Given the description of an element on the screen output the (x, y) to click on. 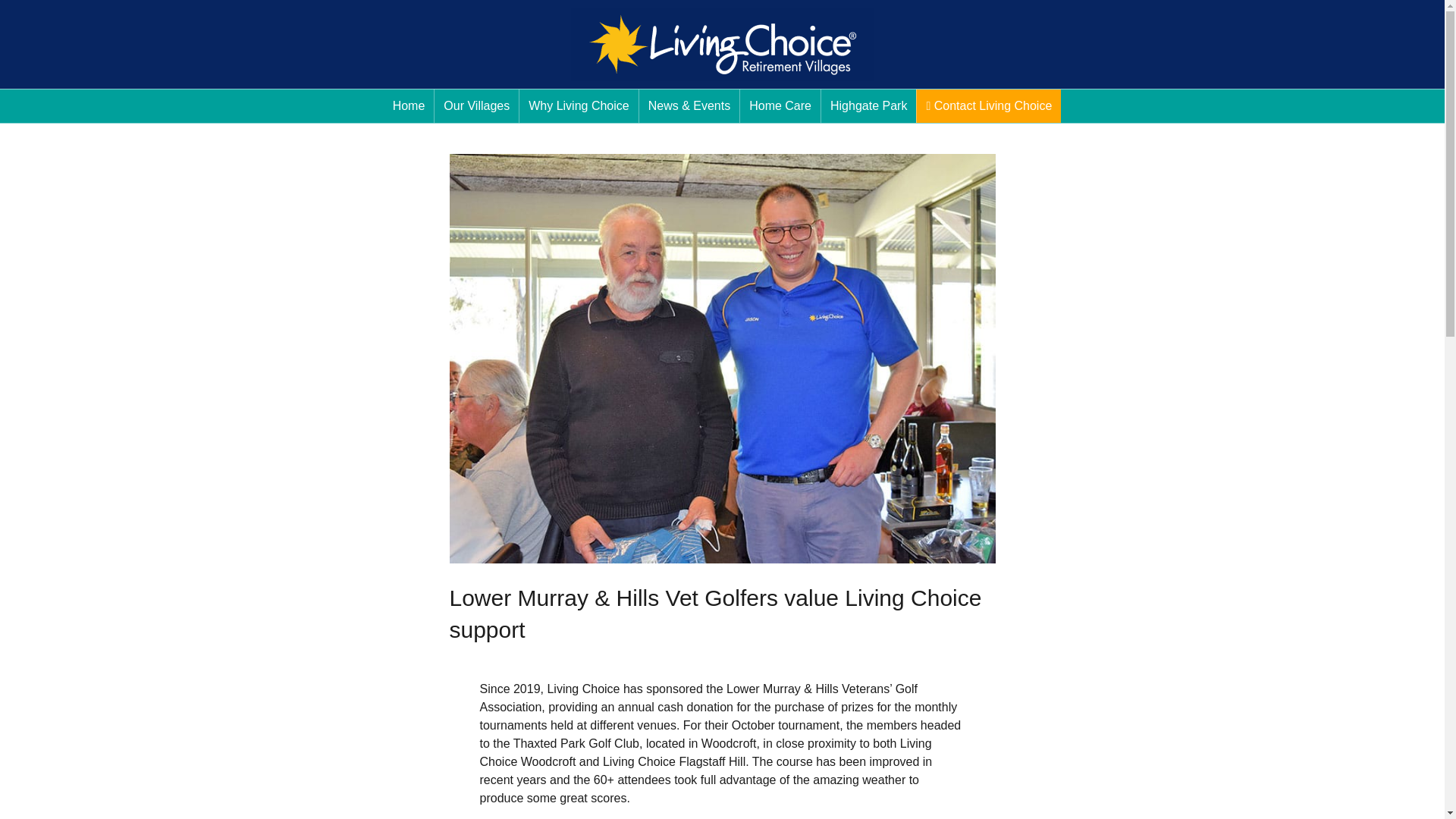
Highgate Park (868, 105)
Home Care (780, 105)
Why Living Choice (579, 105)
LCA Retirement Villages Logo trans white text-01 (721, 44)
Our Villages (475, 105)
Home (408, 105)
Contact Living Choice (989, 105)
